Given the description of an element on the screen output the (x, y) to click on. 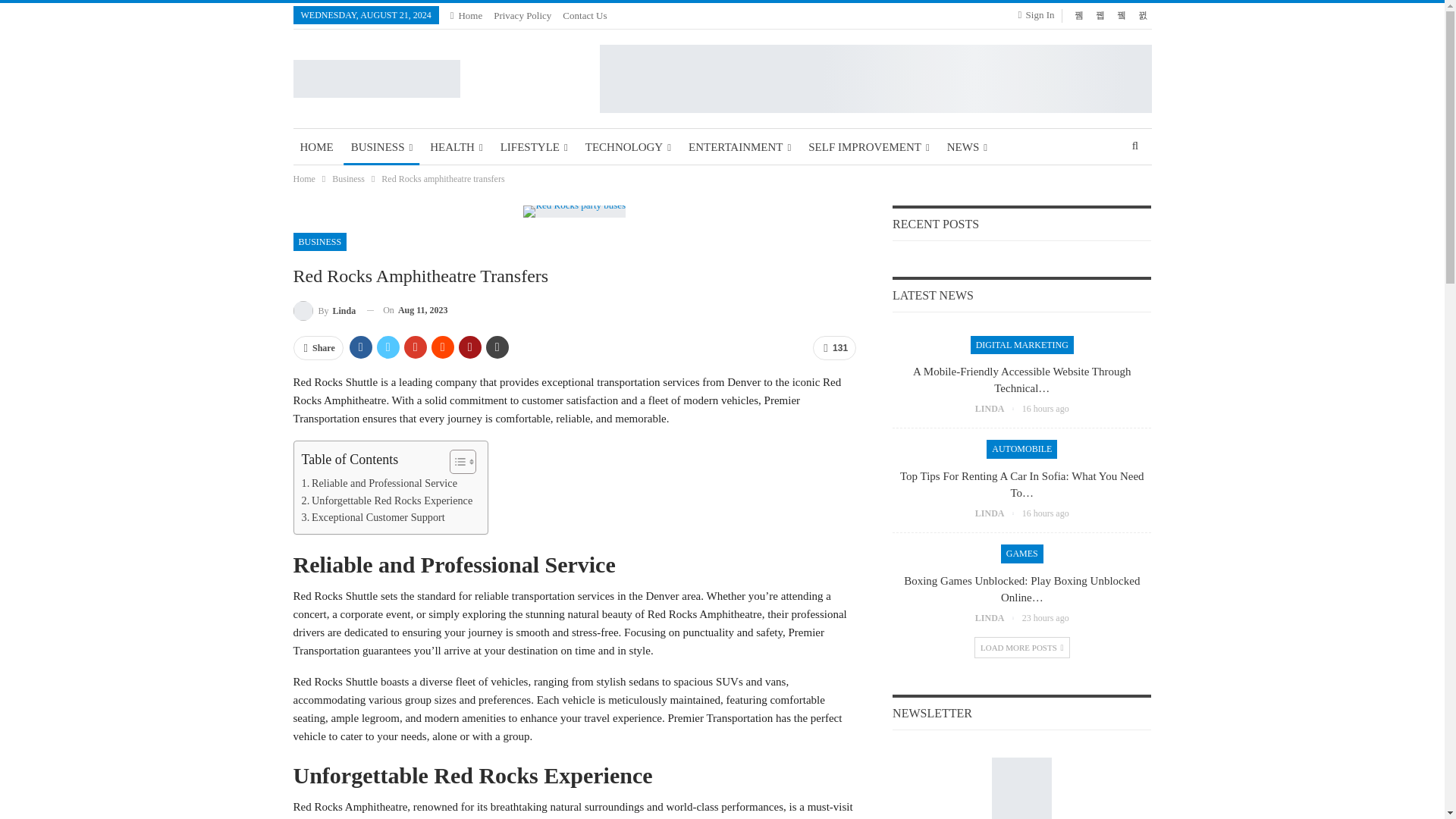
HEALTH (456, 146)
LIFESTYLE (534, 146)
Privacy Policy (522, 15)
Exceptional Customer Support (373, 517)
ENTERTAINMENT (739, 146)
BUSINESS (381, 146)
Browse Author Articles (323, 310)
Contact Us (584, 15)
HOME (315, 146)
Sign In (1039, 14)
